Given the description of an element on the screen output the (x, y) to click on. 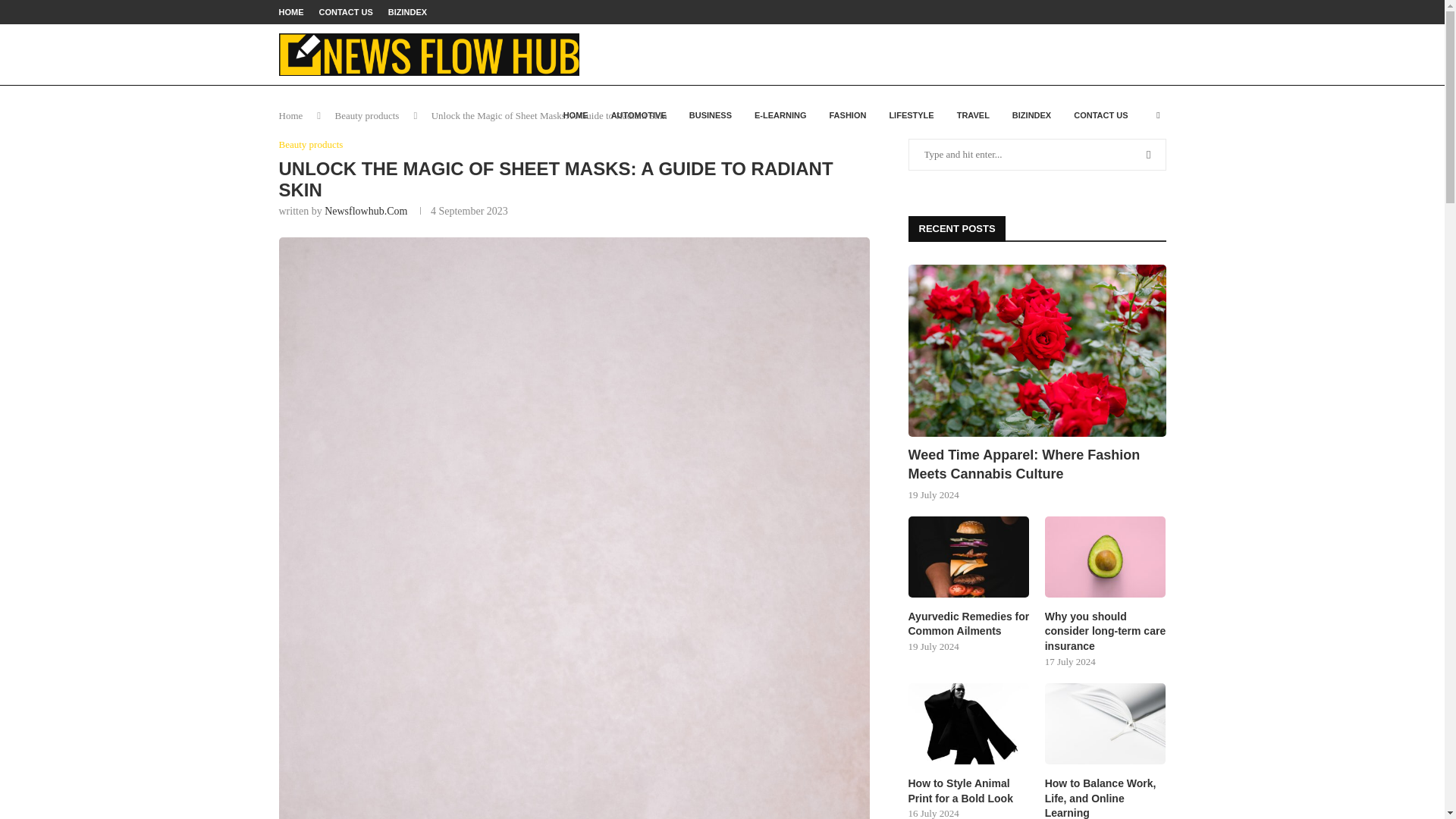
E-LEARNING (779, 115)
Newsflowhub.Com (365, 211)
Home (290, 115)
CONTACT US (1100, 115)
FASHION (846, 115)
BIZINDEX (407, 12)
LIFESTYLE (910, 115)
AUTOMOTIVE (638, 115)
Beauty products (311, 144)
HOME (575, 115)
Beauty products (366, 115)
HOME (291, 12)
CONTACT US (345, 12)
BUSINESS (710, 115)
